Given the description of an element on the screen output the (x, y) to click on. 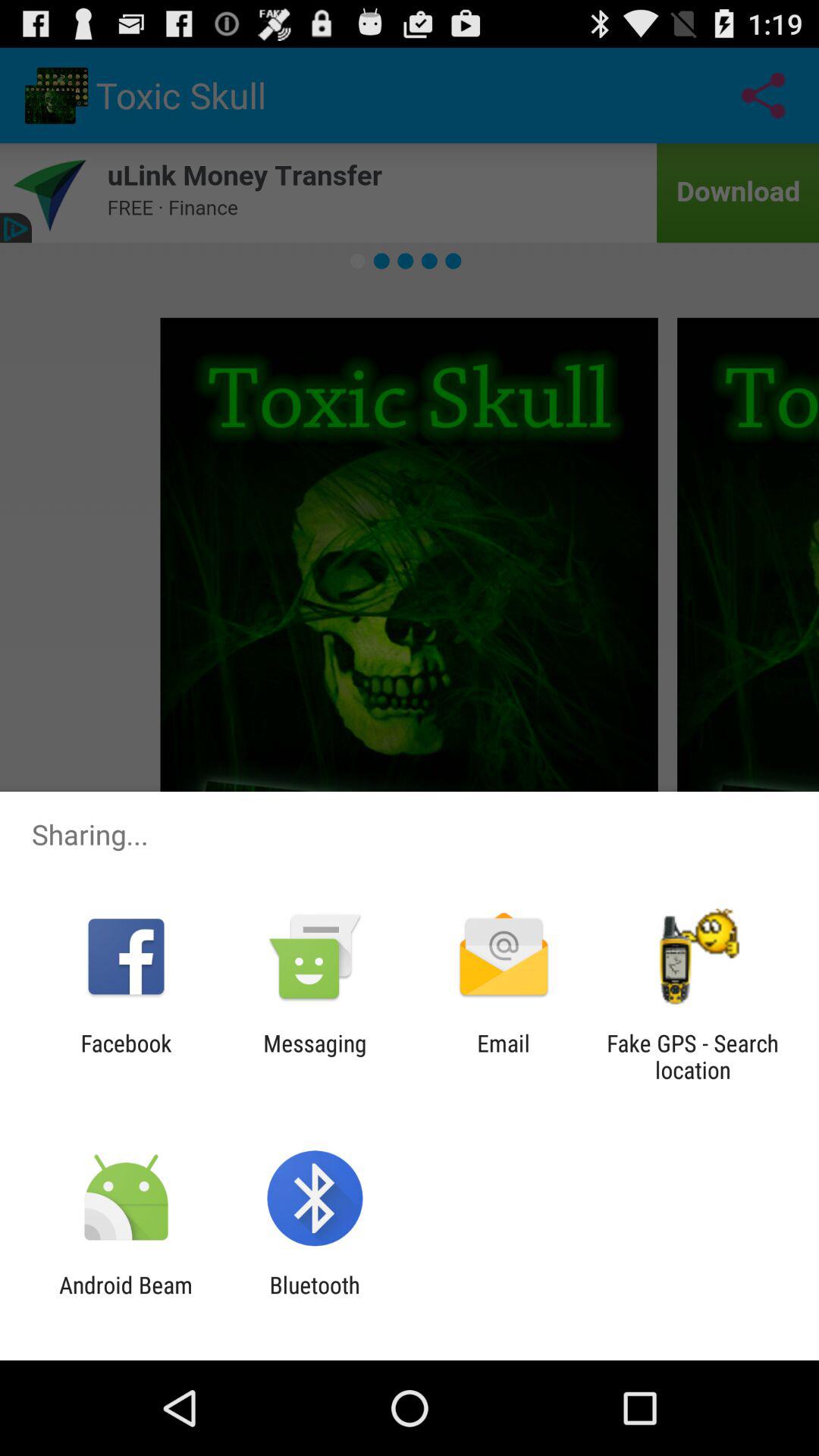
turn off item next to email item (314, 1056)
